Given the description of an element on the screen output the (x, y) to click on. 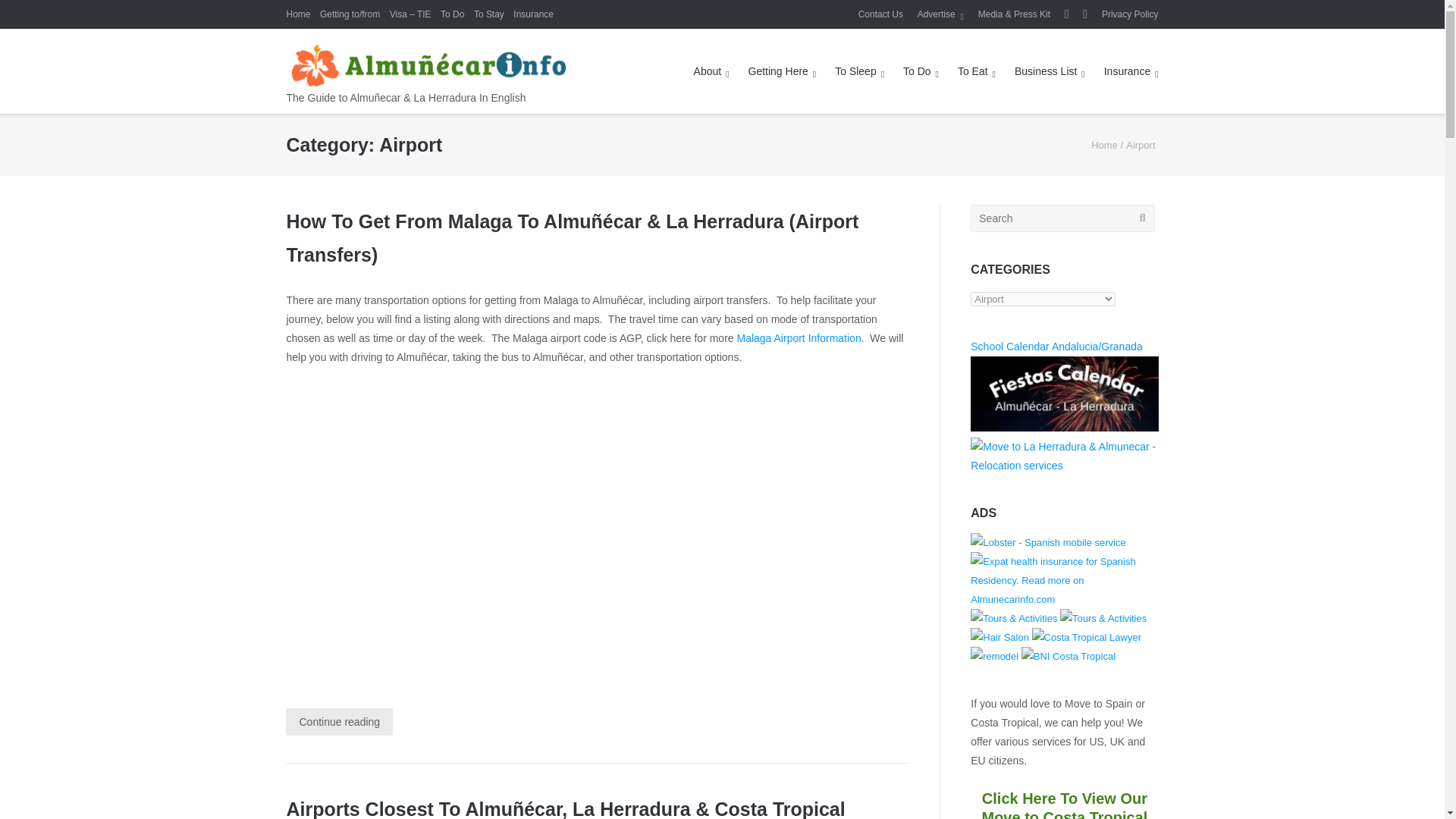
Insurance (533, 14)
Home (297, 14)
Advertise (940, 14)
Contact Us (880, 14)
Privacy Policy (1130, 14)
Facebook (1066, 14)
To Stay (488, 14)
About (711, 70)
To Do (452, 14)
Twitter (1085, 14)
